Given the description of an element on the screen output the (x, y) to click on. 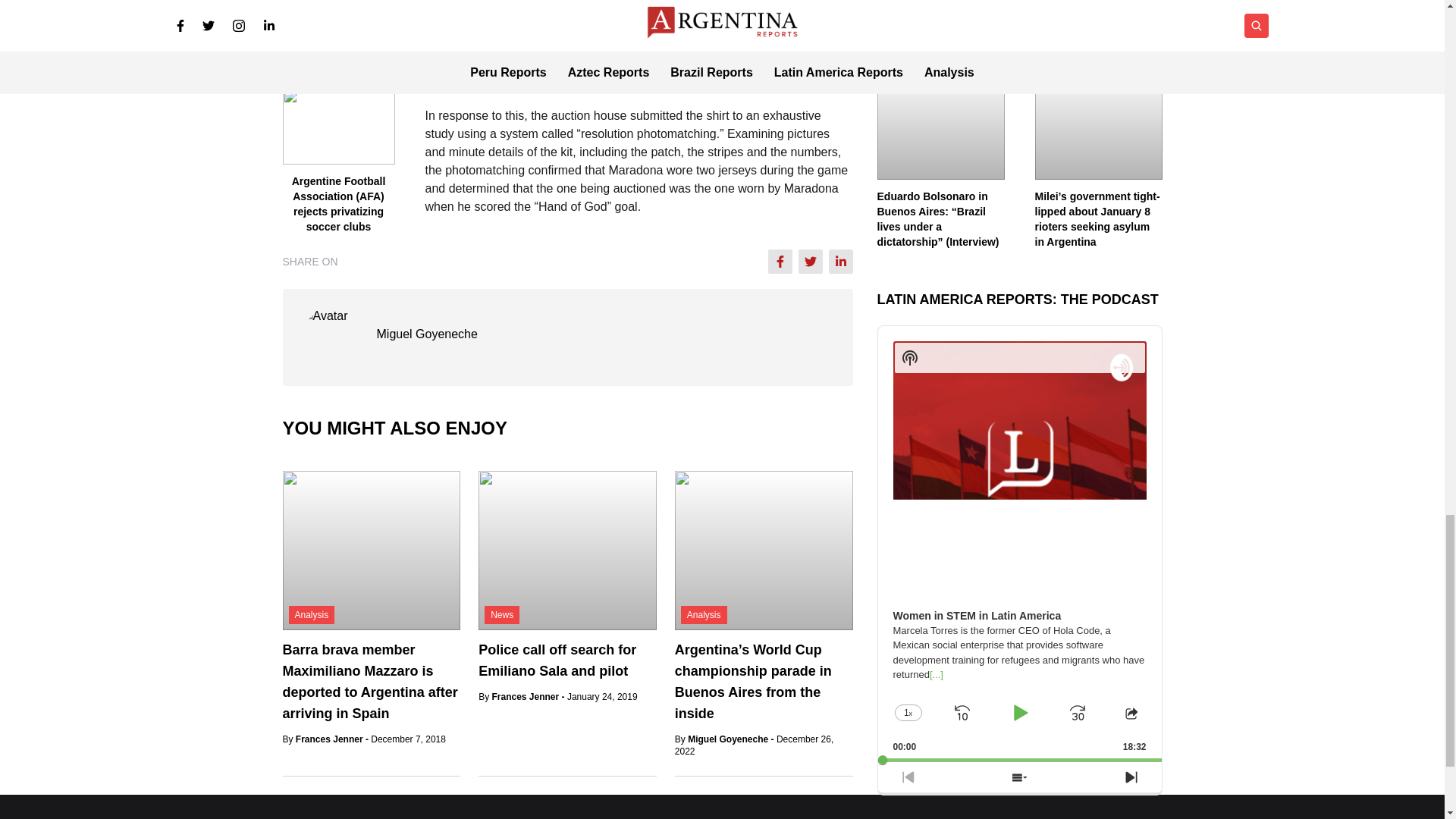
Frances Jenner - (333, 738)
Miguel Goyeneche (426, 334)
Analysis (311, 615)
